Given the description of an element on the screen output the (x, y) to click on. 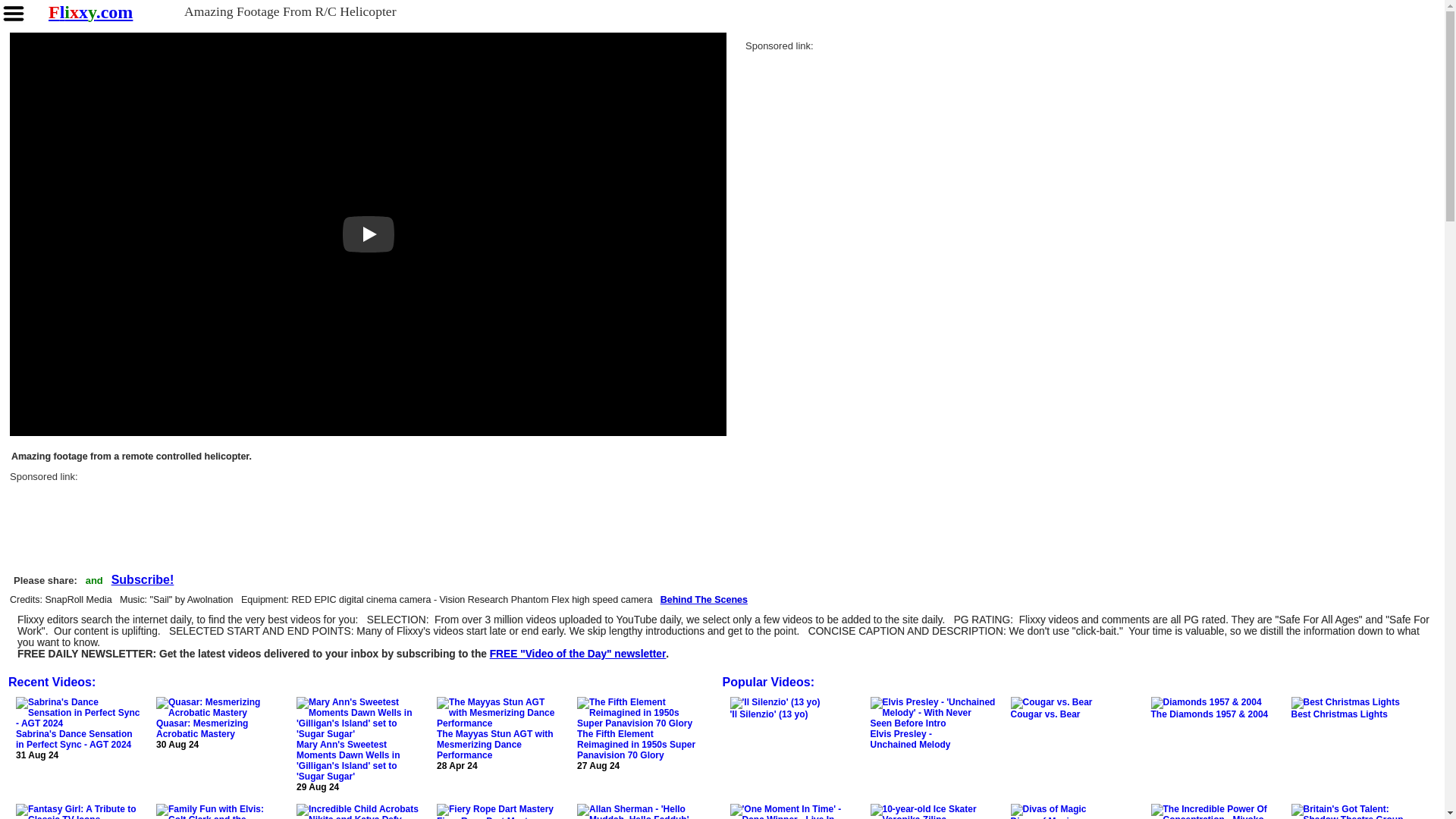
Home (89, 12)
Behind The Scenes (704, 599)
Play (368, 234)
Flixxy.com (89, 12)
Menu (13, 13)
FREE "Video of the Day" newsletter (577, 653)
Subscribe! (577, 653)
FREE Newsletter (143, 581)
Subscribe! (143, 581)
300x250 (858, 142)
